Given the description of an element on the screen output the (x, y) to click on. 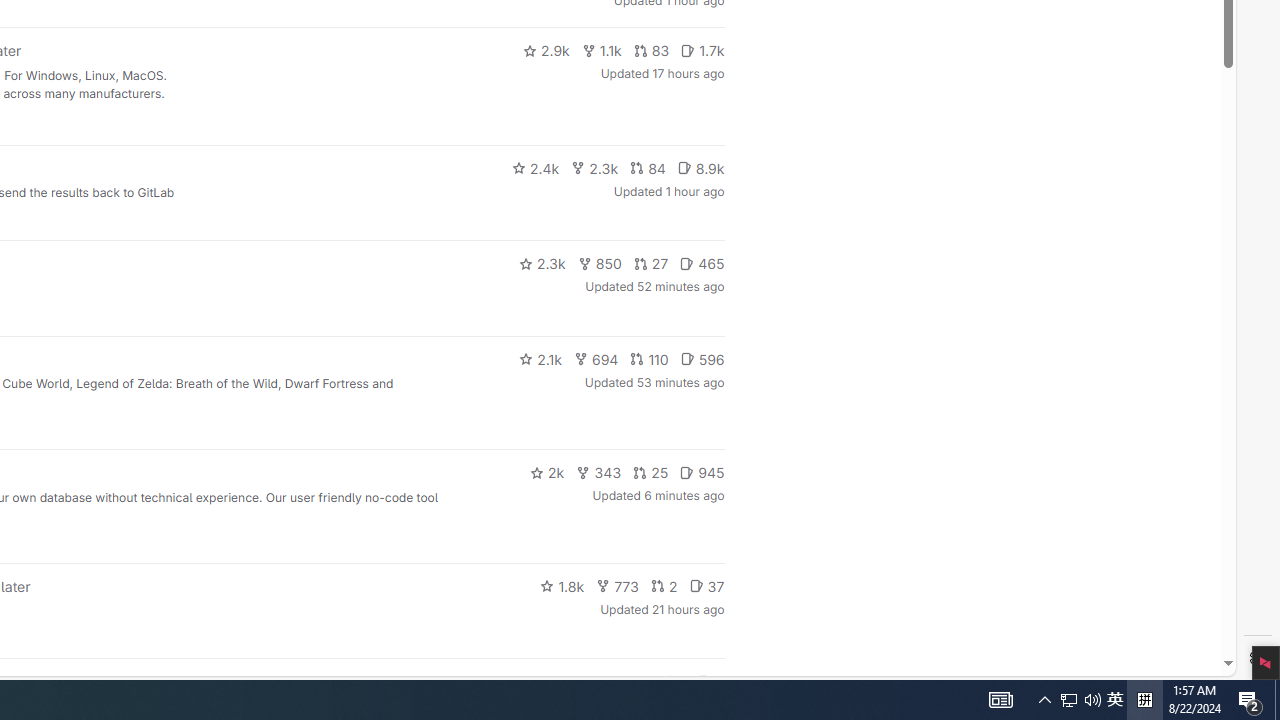
110 (649, 358)
Class: s14 gl-mr-2 (704, 681)
2 (664, 585)
2k (546, 472)
2.9k (545, 50)
694 (596, 358)
37 (706, 585)
343 (599, 472)
2.1k (539, 358)
2.3k (541, 263)
1 (673, 681)
945 (701, 472)
83 (651, 50)
